Given the description of an element on the screen output the (x, y) to click on. 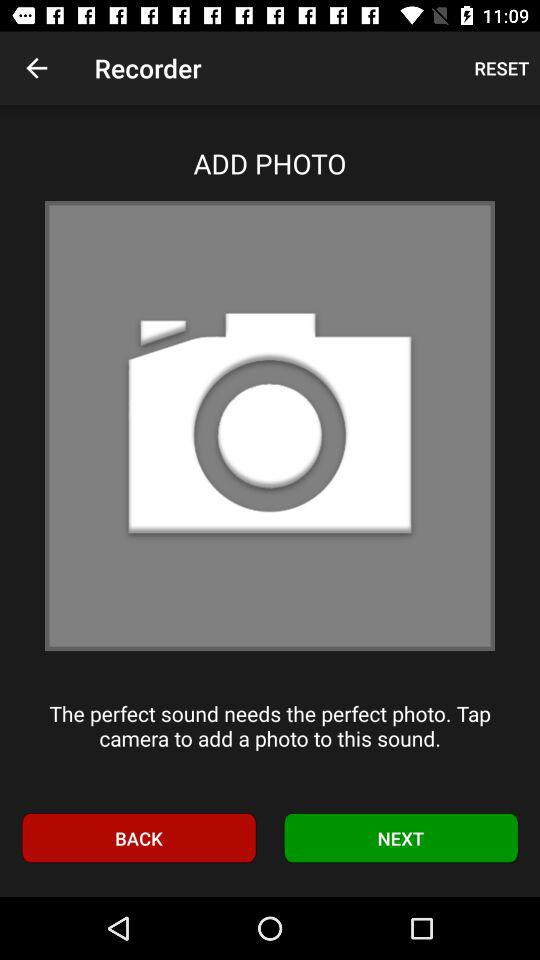
launch the item next to the recorder icon (501, 67)
